Given the description of an element on the screen output the (x, y) to click on. 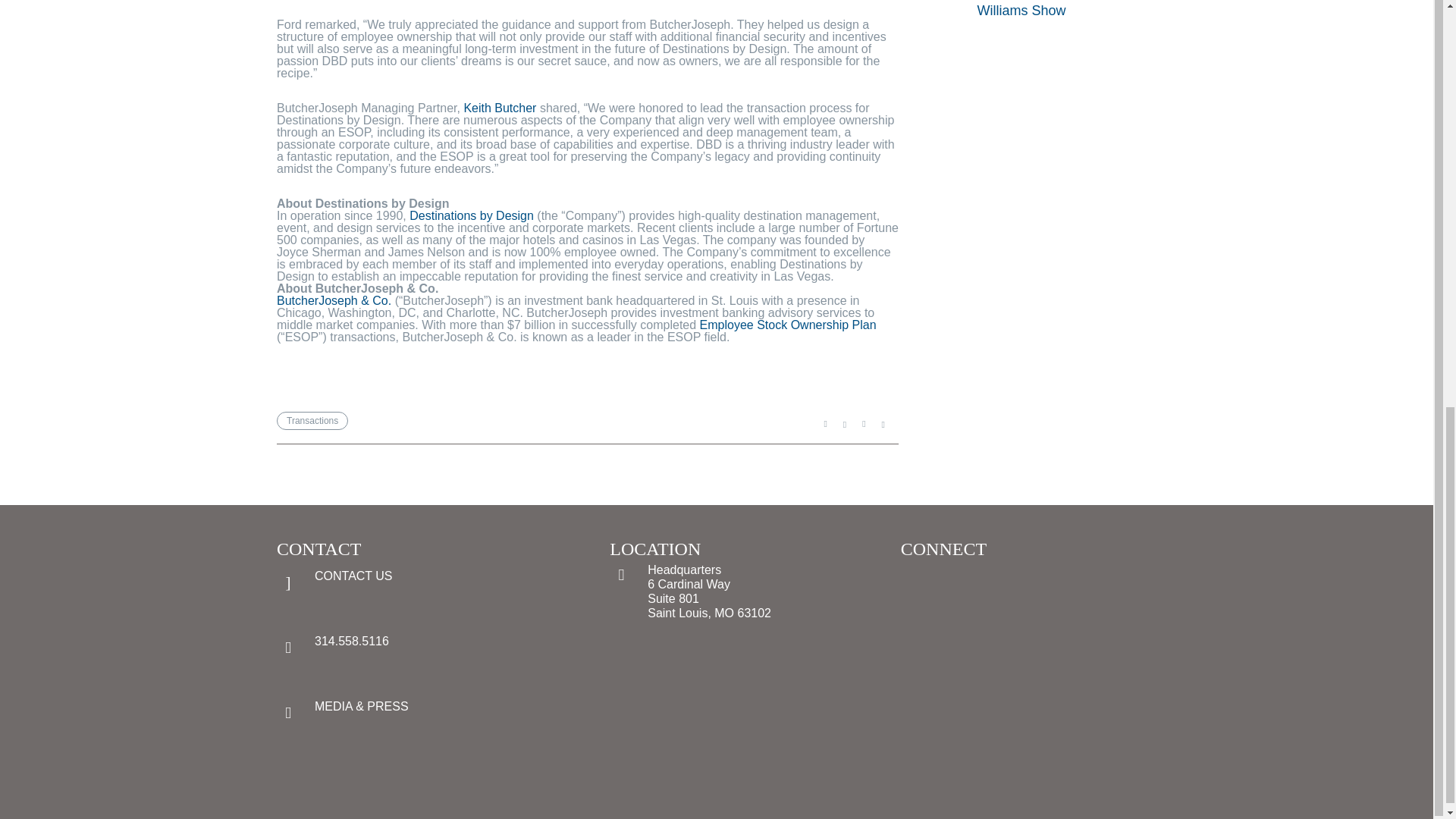
Keith Butcher (499, 107)
Transactions (311, 420)
Employee Stock Ownership Plan (788, 324)
Destinations by Design (471, 215)
